Given the description of an element on the screen output the (x, y) to click on. 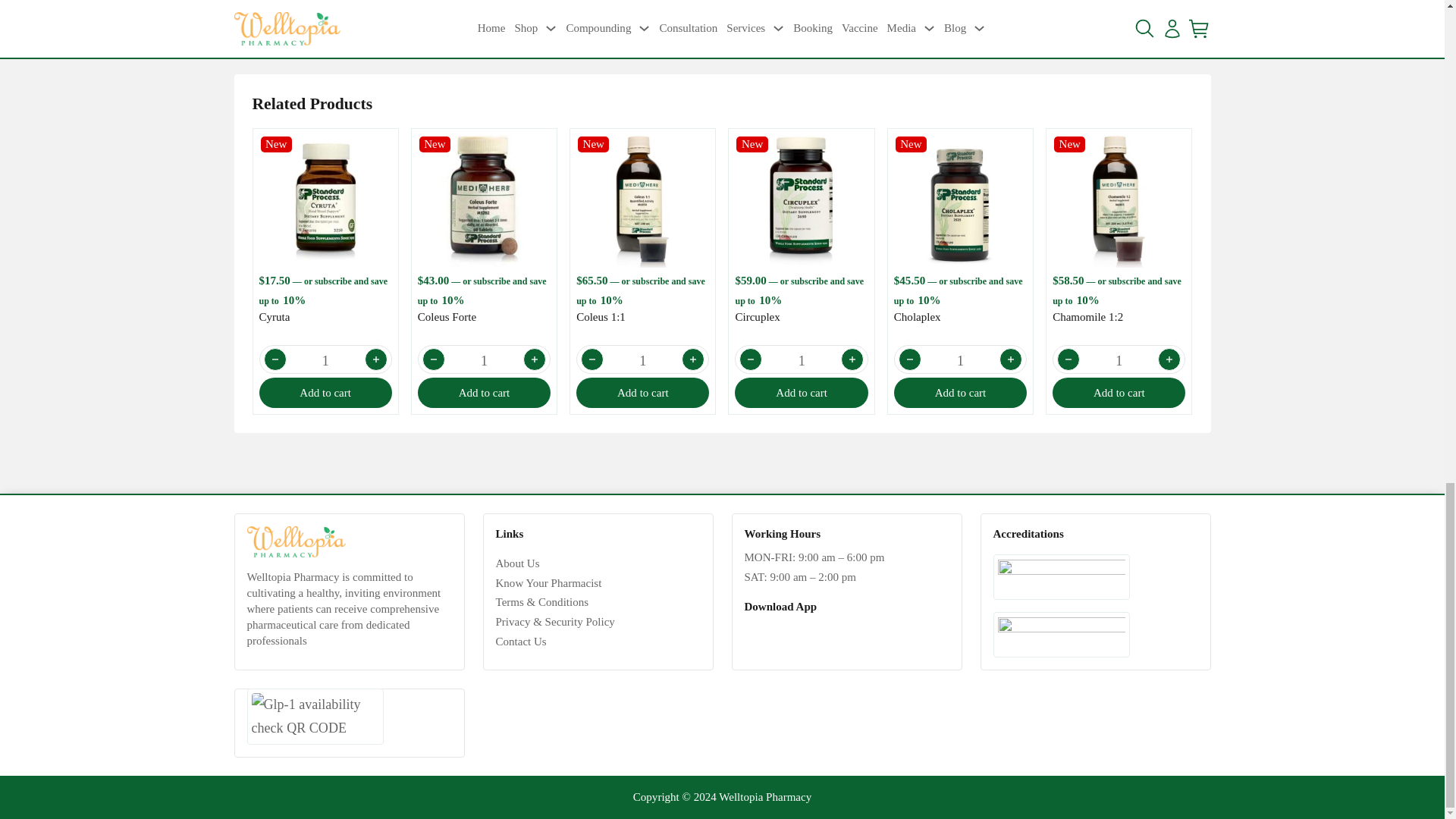
1 (325, 360)
1 (959, 360)
1 (800, 360)
1 (483, 360)
1 (1118, 360)
1 (642, 360)
